Given the description of an element on the screen output the (x, y) to click on. 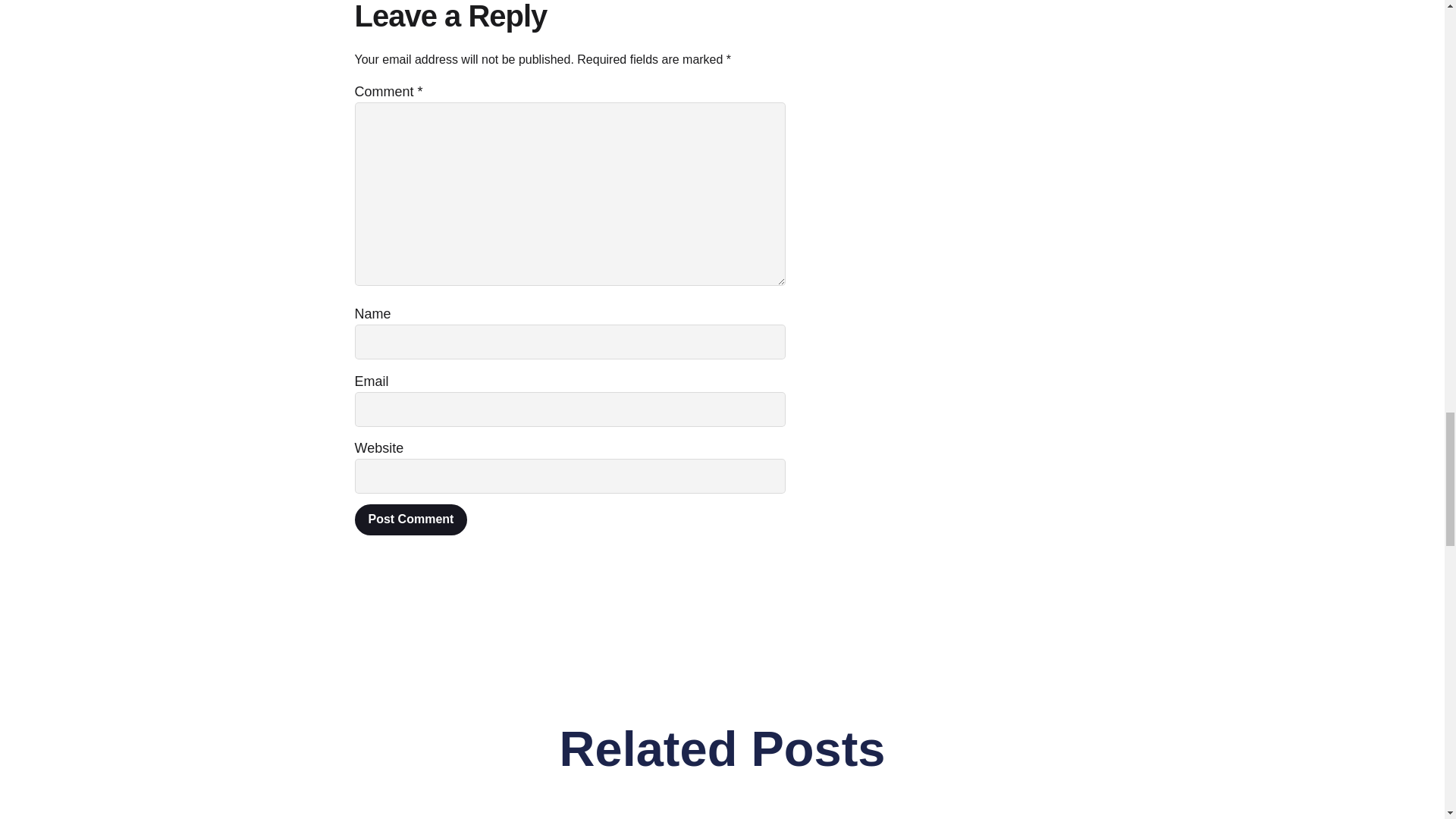
Post Comment (411, 519)
